Given the description of an element on the screen output the (x, y) to click on. 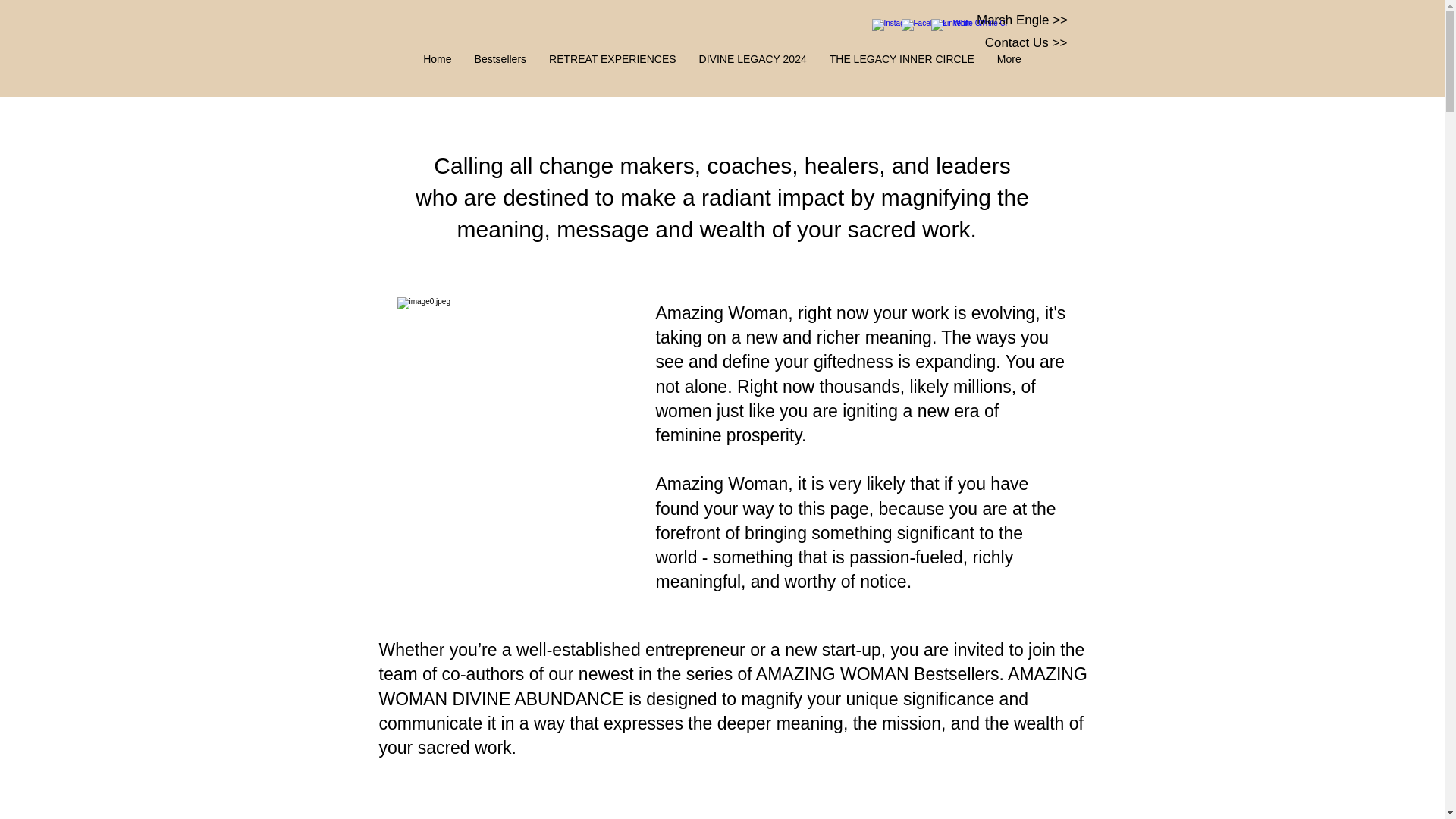
Bestsellers (500, 71)
Home (437, 71)
THE LEGACY INNER CIRCLE (901, 71)
